Given the description of an element on the screen output the (x, y) to click on. 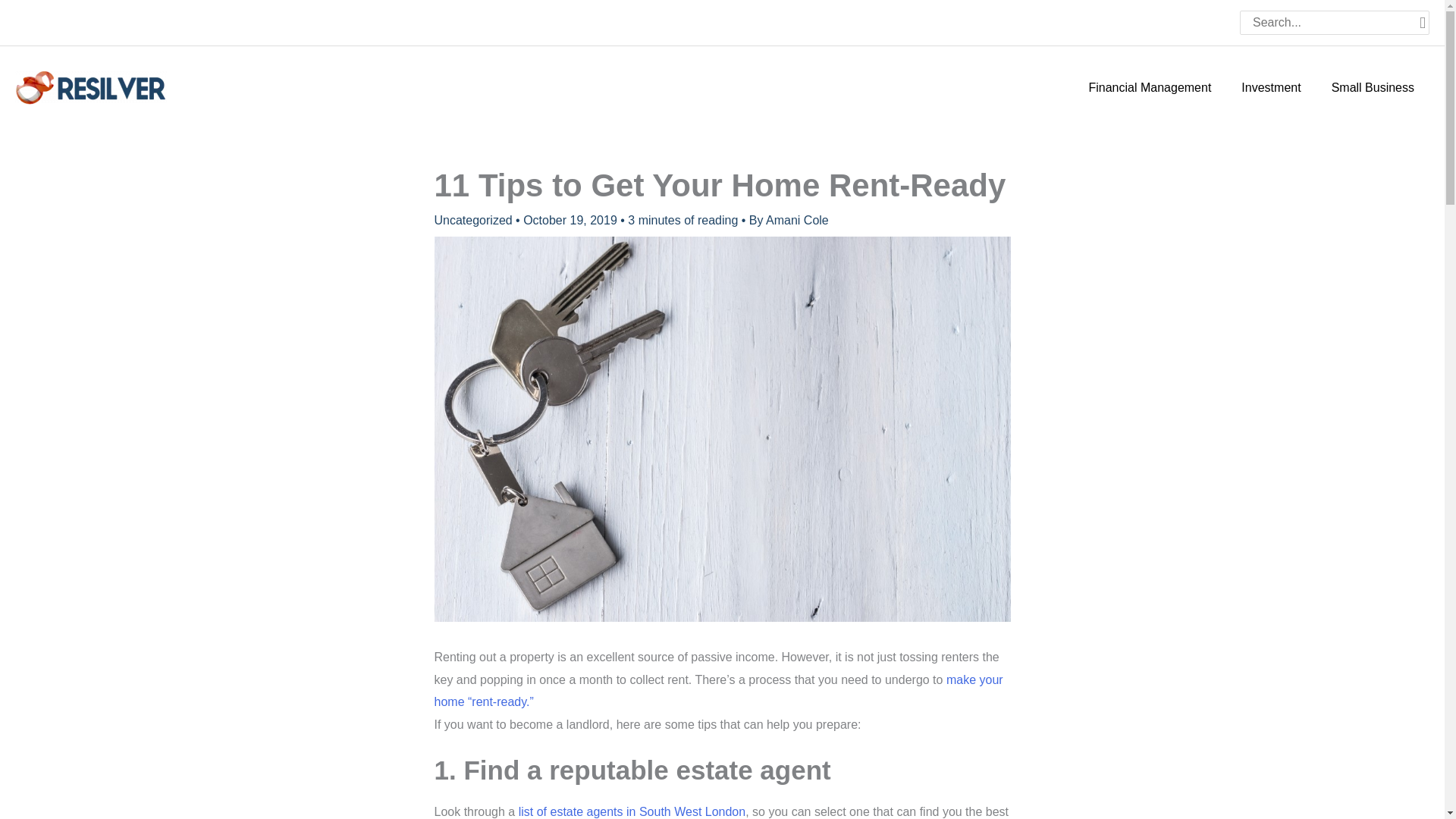
list of estate agents in South West London (631, 811)
Brinkley's Estate Agents (631, 811)
Financial Management (1149, 87)
View all posts by Amani Cole (796, 219)
Investment (1270, 87)
Amani Cole (796, 219)
Uncategorized (472, 219)
Small Business (1372, 87)
